Given the description of an element on the screen output the (x, y) to click on. 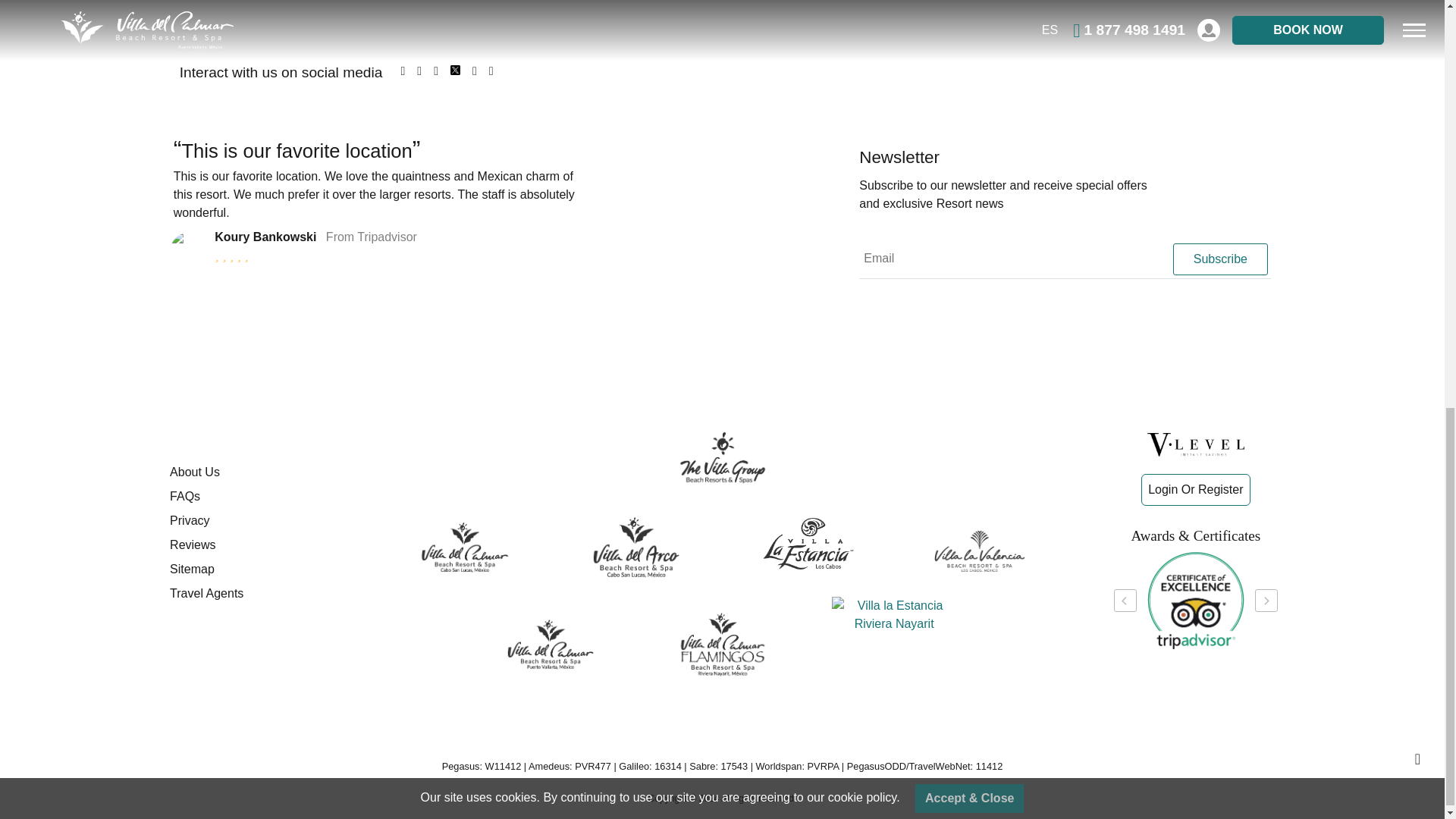
Villa del Palmar Puerto Vallarta (550, 644)
Privacy (261, 520)
Villa del Palmar Flamingos Riviera Nayarit (722, 644)
Villa La Estancia Los Cabos (807, 543)
Villagroup Resorts (722, 457)
Villa del Palmar Cabo San Lucas (465, 547)
Villa del Arco Cabo San Lucas (636, 547)
V-level (1195, 444)
FAQs (261, 496)
Villa La Valencia Cabo San Lucas (979, 551)
Reviews (261, 545)
Villa la Estancia Riviera Nayarit (893, 615)
Sitemap (261, 569)
About Us (261, 472)
Subscribe (1220, 259)
